Given the description of an element on the screen output the (x, y) to click on. 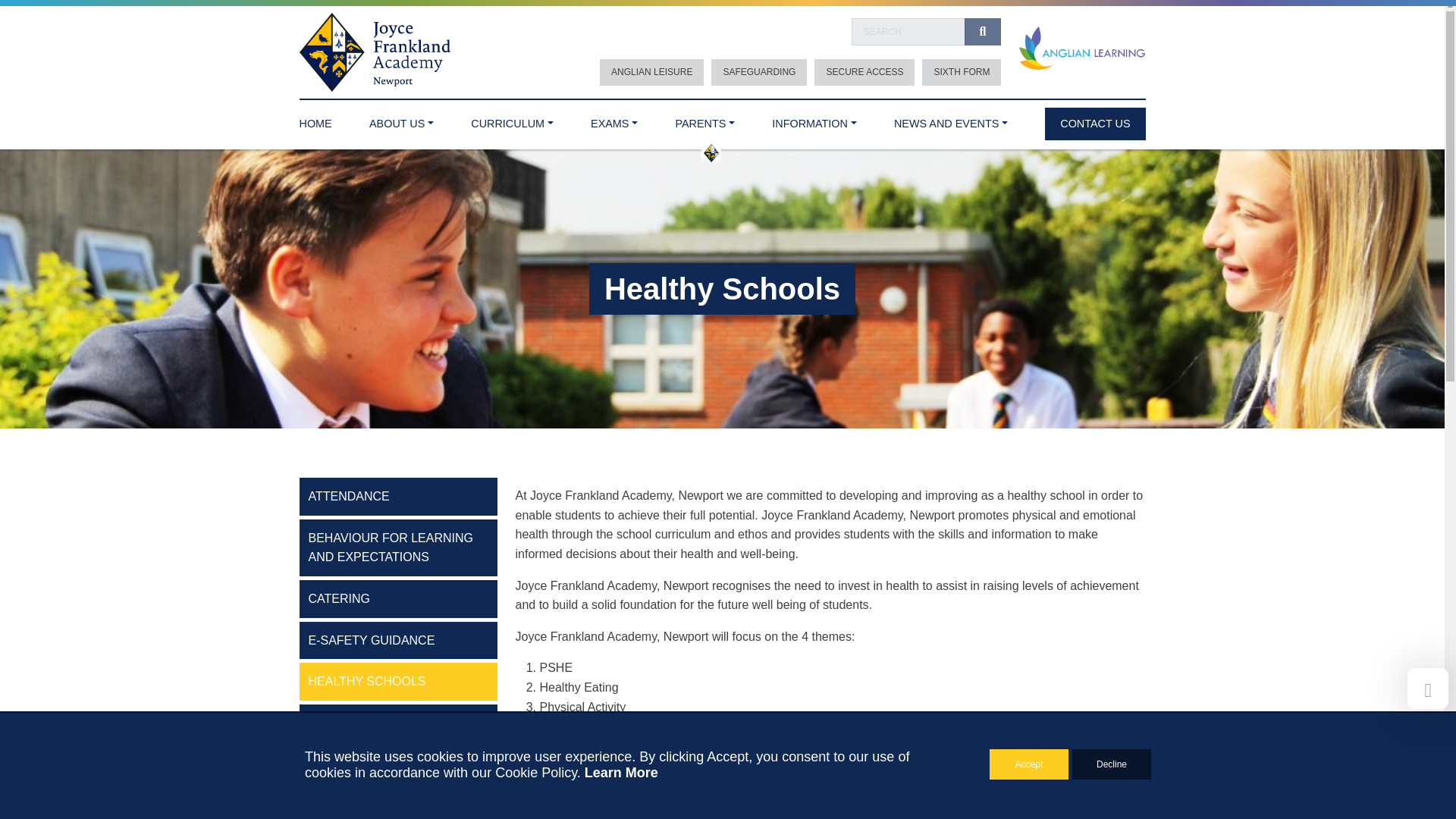
HOME (314, 119)
EXAMS (614, 119)
Anglian Learning (1081, 47)
SECURE ACCESS (863, 71)
ANGLIAN LEISURE (651, 71)
CURRICULUM (511, 119)
Zoom in (895, 550)
SAFEGUARDING (758, 71)
A JavaScript library for interactive maps (1123, 714)
ABOUT US (401, 119)
Zoom out (895, 573)
SIXTH FORM (961, 71)
PARENTS (705, 119)
